Given the description of an element on the screen output the (x, y) to click on. 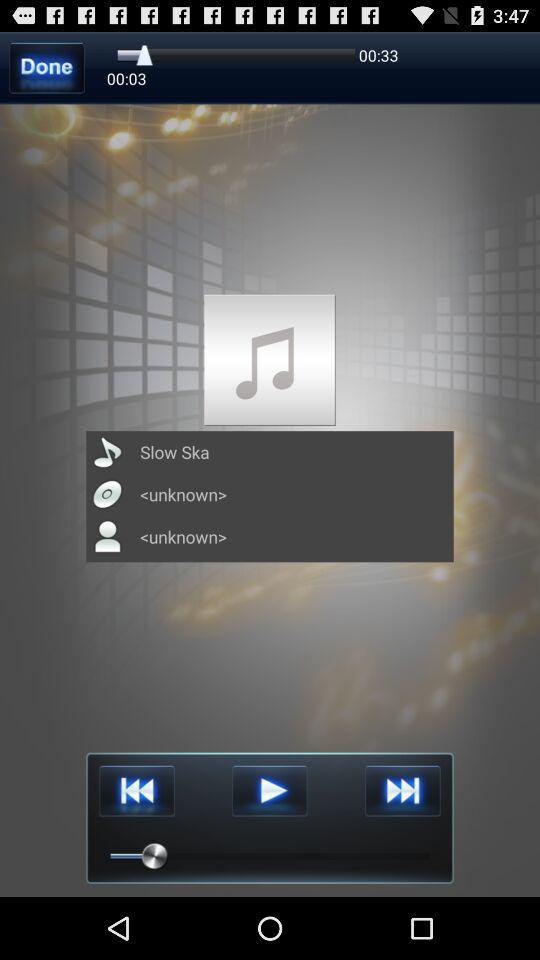
done synchronizing (46, 67)
